Given the description of an element on the screen output the (x, y) to click on. 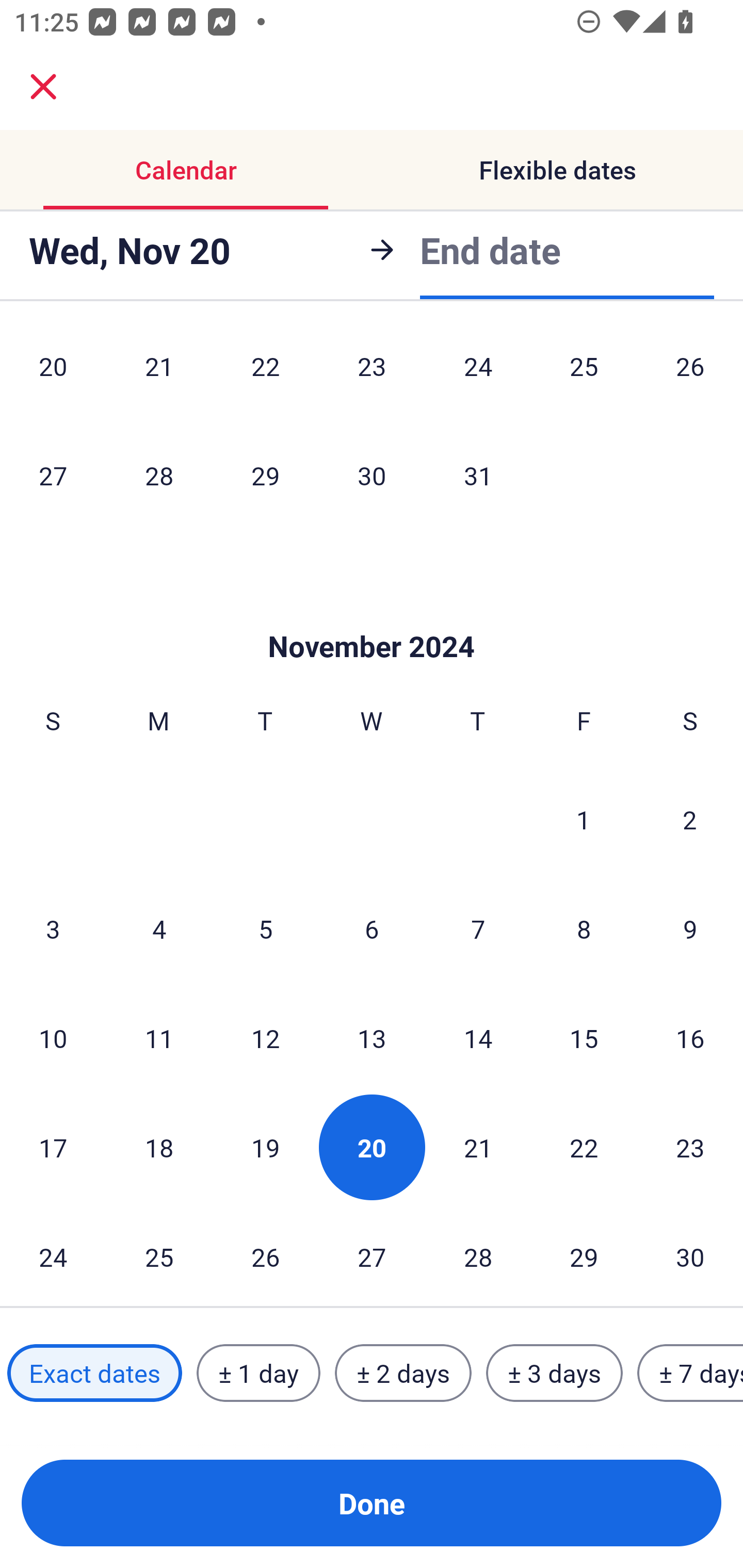
close. (43, 86)
Flexible dates (557, 170)
End date (489, 249)
20 Sunday, October 20, 2024 (53, 374)
21 Monday, October 21, 2024 (159, 374)
22 Tuesday, October 22, 2024 (265, 374)
23 Wednesday, October 23, 2024 (371, 374)
24 Thursday, October 24, 2024 (477, 374)
25 Friday, October 25, 2024 (584, 374)
26 Saturday, October 26, 2024 (690, 374)
27 Sunday, October 27, 2024 (53, 474)
28 Monday, October 28, 2024 (159, 474)
29 Tuesday, October 29, 2024 (265, 474)
30 Wednesday, October 30, 2024 (371, 474)
31 Thursday, October 31, 2024 (477, 474)
Skip to Done (371, 615)
1 Friday, November 1, 2024 (583, 818)
2 Saturday, November 2, 2024 (689, 818)
3 Sunday, November 3, 2024 (53, 928)
4 Monday, November 4, 2024 (159, 928)
